Given the description of an element on the screen output the (x, y) to click on. 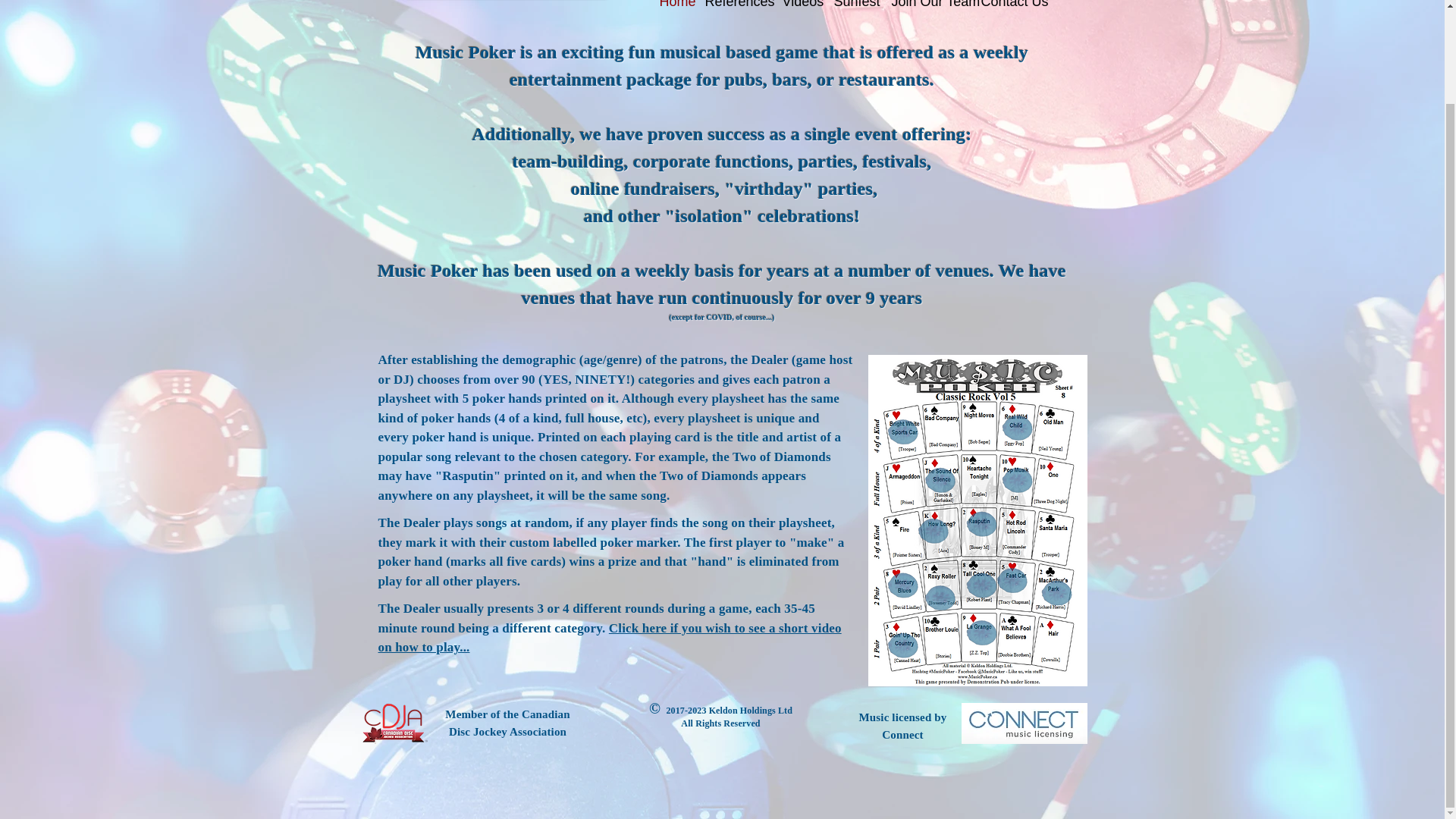
Sunfest (855, 11)
Join Our Team (928, 11)
References (735, 11)
Videos (800, 11)
Home (674, 11)
Contact Us (1011, 11)
